Given the description of an element on the screen output the (x, y) to click on. 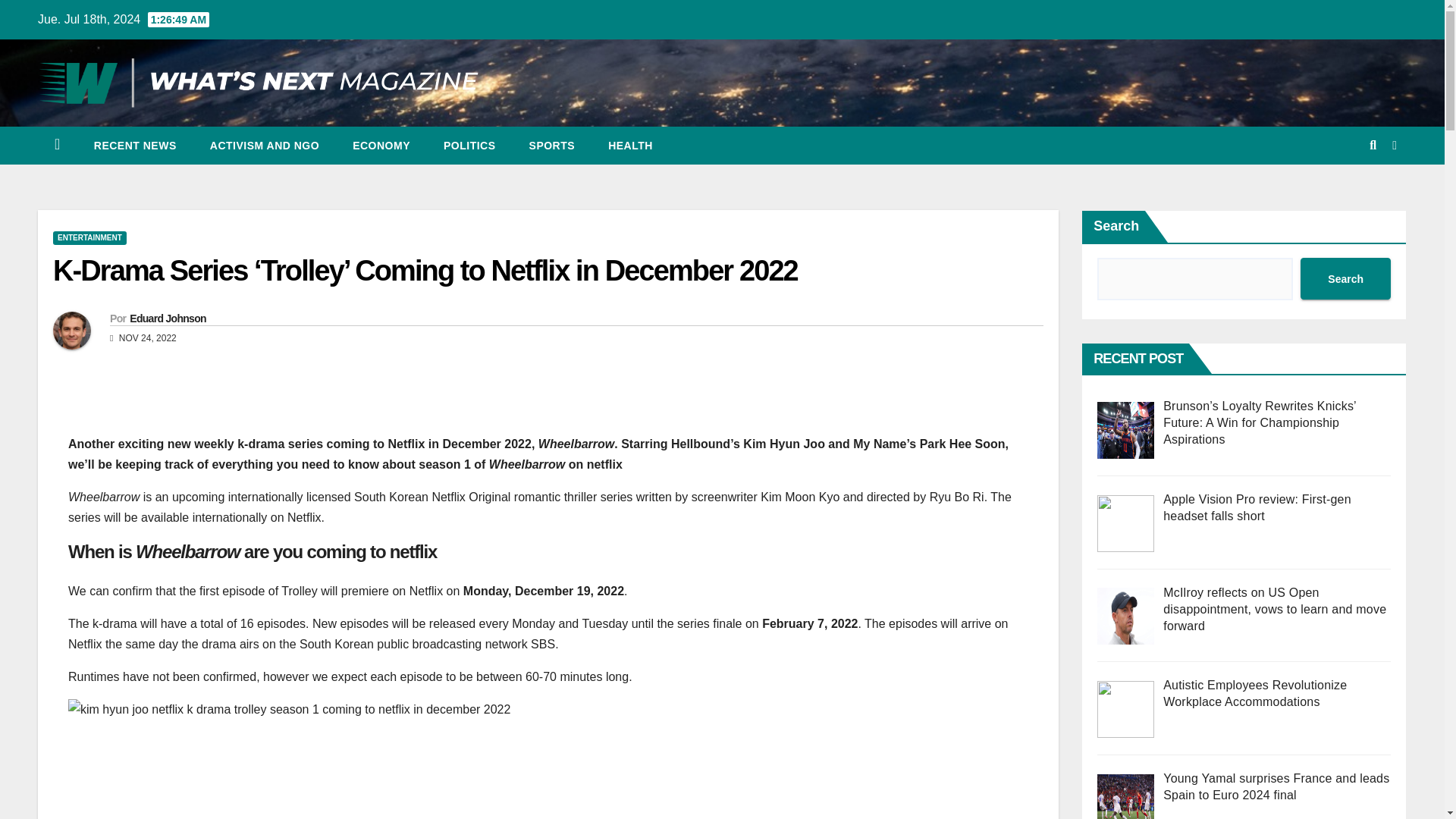
ACTIVISM AND NGO (264, 145)
Eduard Johnson (167, 318)
Economy (381, 145)
Health (630, 145)
ECONOMY (381, 145)
HEALTH (630, 145)
POLITICS (469, 145)
Politics (469, 145)
Sports (552, 145)
Activism and NGO (264, 145)
RECENT NEWS (135, 145)
SPORTS (552, 145)
Recent news (135, 145)
ENTERTAINMENT (89, 237)
